Given the description of an element on the screen output the (x, y) to click on. 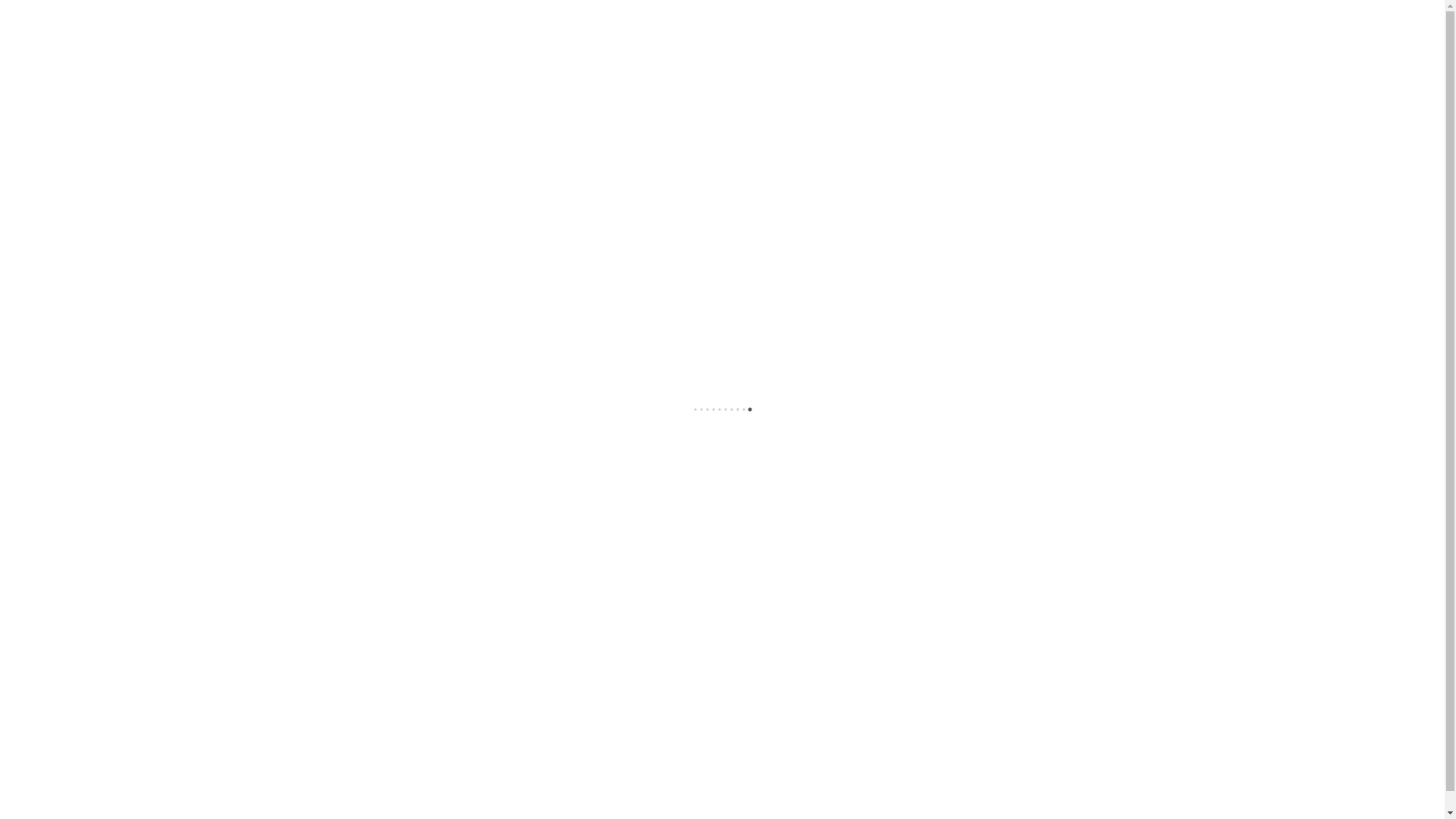
 Sign Up Element type: text (796, 622)
eric@artelle.ca Element type: text (728, 739)
